Given the description of an element on the screen output the (x, y) to click on. 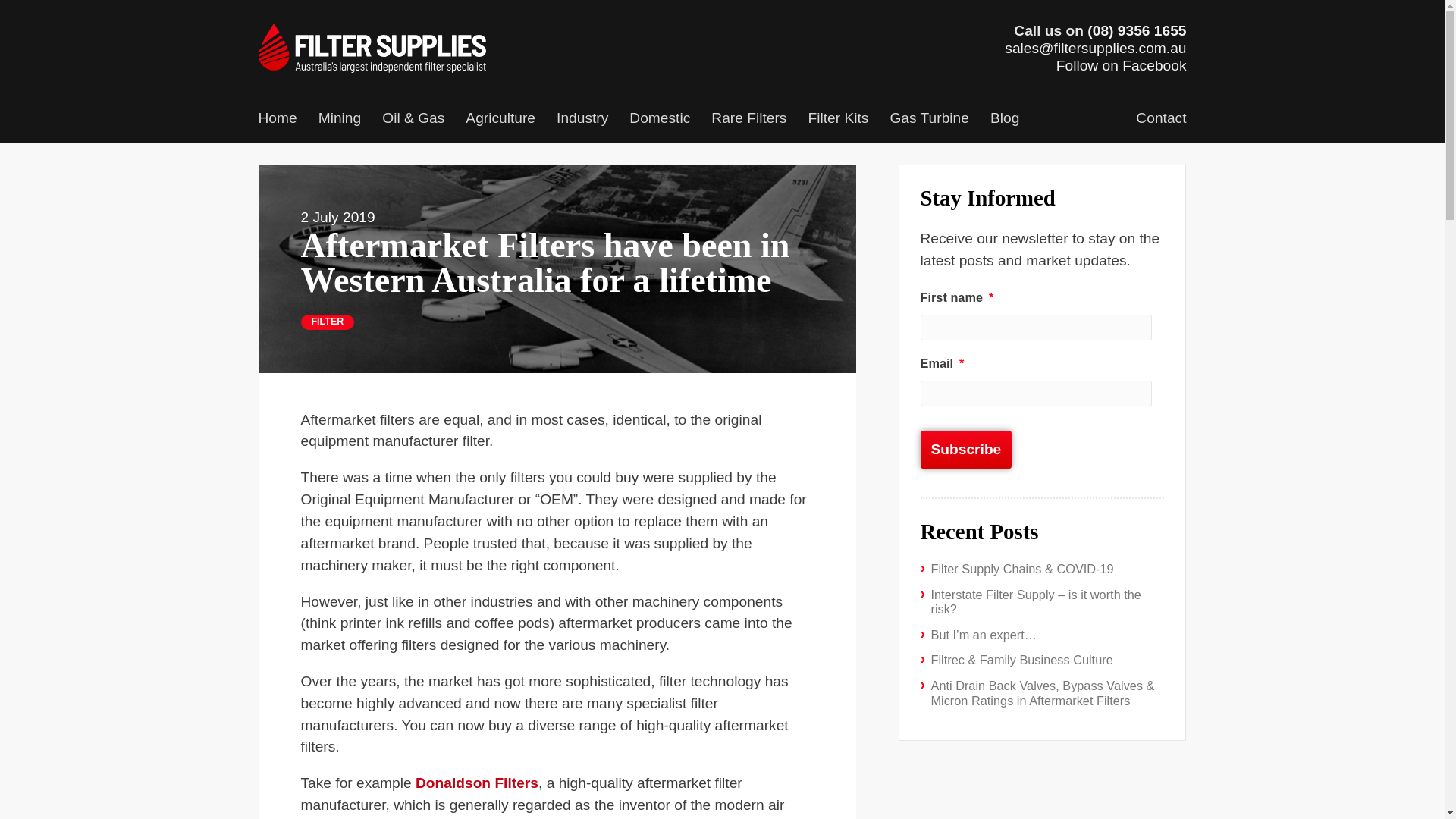
Home Element type: text (277, 120)
(08) 9356 1655 Element type: text (1136, 30)
Industry Element type: text (582, 120)
Rare Filters Element type: text (748, 120)
Gas Turbine Element type: text (928, 120)
Contact Element type: text (1160, 120)
Subscribe Element type: text (966, 449)
Blog Element type: text (1004, 120)
Filter Kits Element type: text (837, 120)
Agriculture Element type: text (500, 120)
Filtrec & Family Business Culture Element type: text (1022, 659)
Follow on Facebook Element type: text (1121, 65)
Donaldson Filters Element type: text (476, 782)
Filter Supply Chains & COVID-19 Element type: text (1022, 568)
sales@filtersupplies.com.au Element type: text (1095, 48)
Oil & Gas Element type: text (413, 120)
Domestic Element type: text (659, 120)
Mining Element type: text (339, 120)
